Given the description of an element on the screen output the (x, y) to click on. 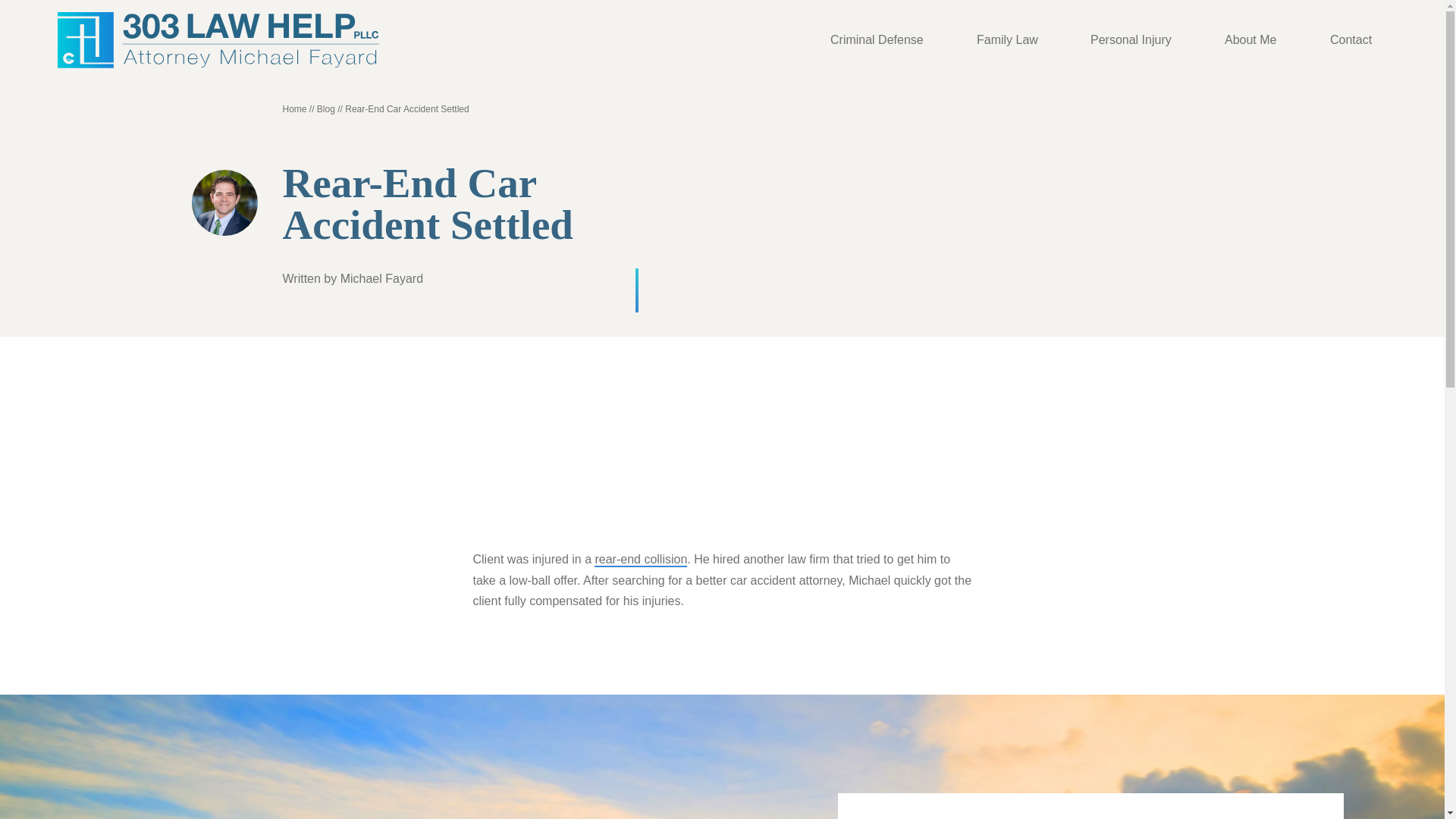
rear-end collision (640, 559)
Home (293, 109)
Personal Injury (1130, 40)
Criminal Defense (877, 40)
Contact (1350, 40)
Blog (325, 109)
About Me (1250, 40)
Family Law (1006, 40)
